Given the description of an element on the screen output the (x, y) to click on. 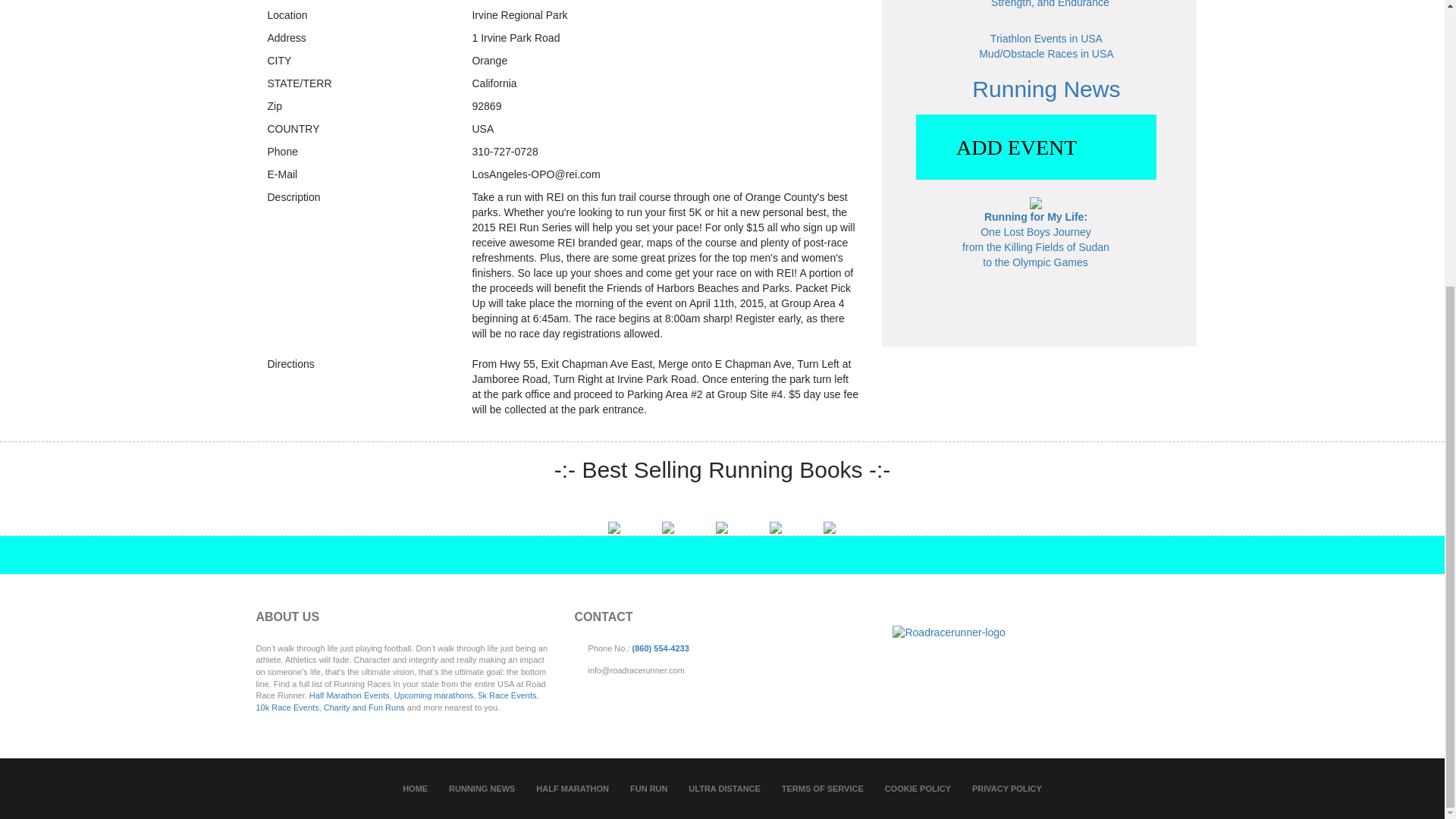
RUNNING NEWS (481, 788)
HALF MARATHON (571, 788)
HOME (415, 788)
TERMS OF SERVICE (822, 788)
COOKIE POLICY (917, 788)
Running News (1045, 88)
5k Race Events (506, 695)
ULTRA DISTANCE (724, 788)
10k Race Events (287, 706)
FUN RUN (649, 788)
ADD EVENT (1035, 147)
Upcoming marathons (434, 695)
Triathlon Events in USA (1046, 38)
